Given the description of an element on the screen output the (x, y) to click on. 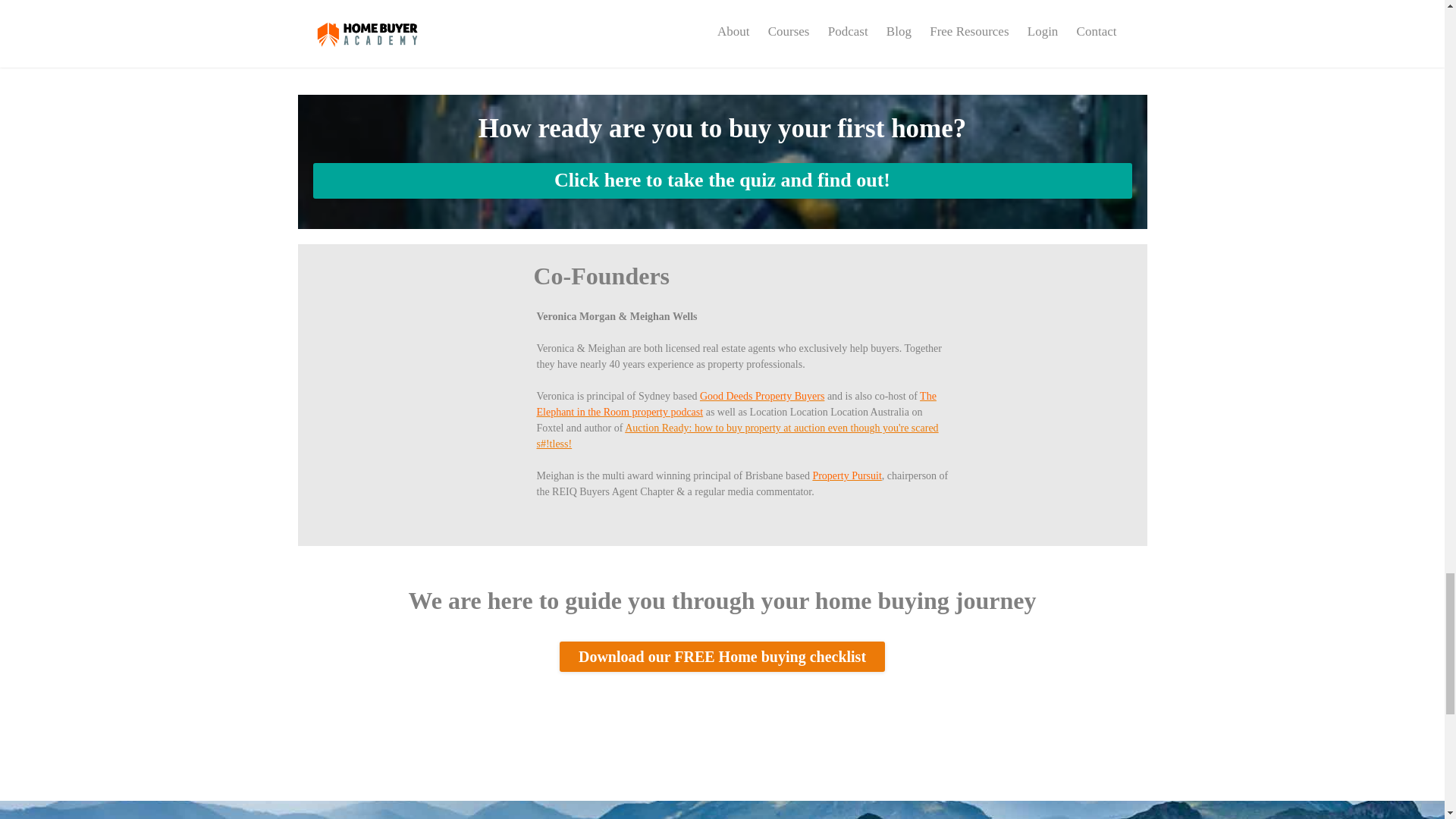
Good Deeds Property Buyers (762, 396)
Good Deeds Property Buyers (762, 396)
The Elephant in the Room (736, 403)
Click here to take the quiz and find out! (722, 180)
Property Pursuit (846, 475)
Property Pursuit (846, 475)
Download our FREE Home buying checklist (722, 656)
The Elephant in the Room property podcast (736, 403)
